Given the description of an element on the screen output the (x, y) to click on. 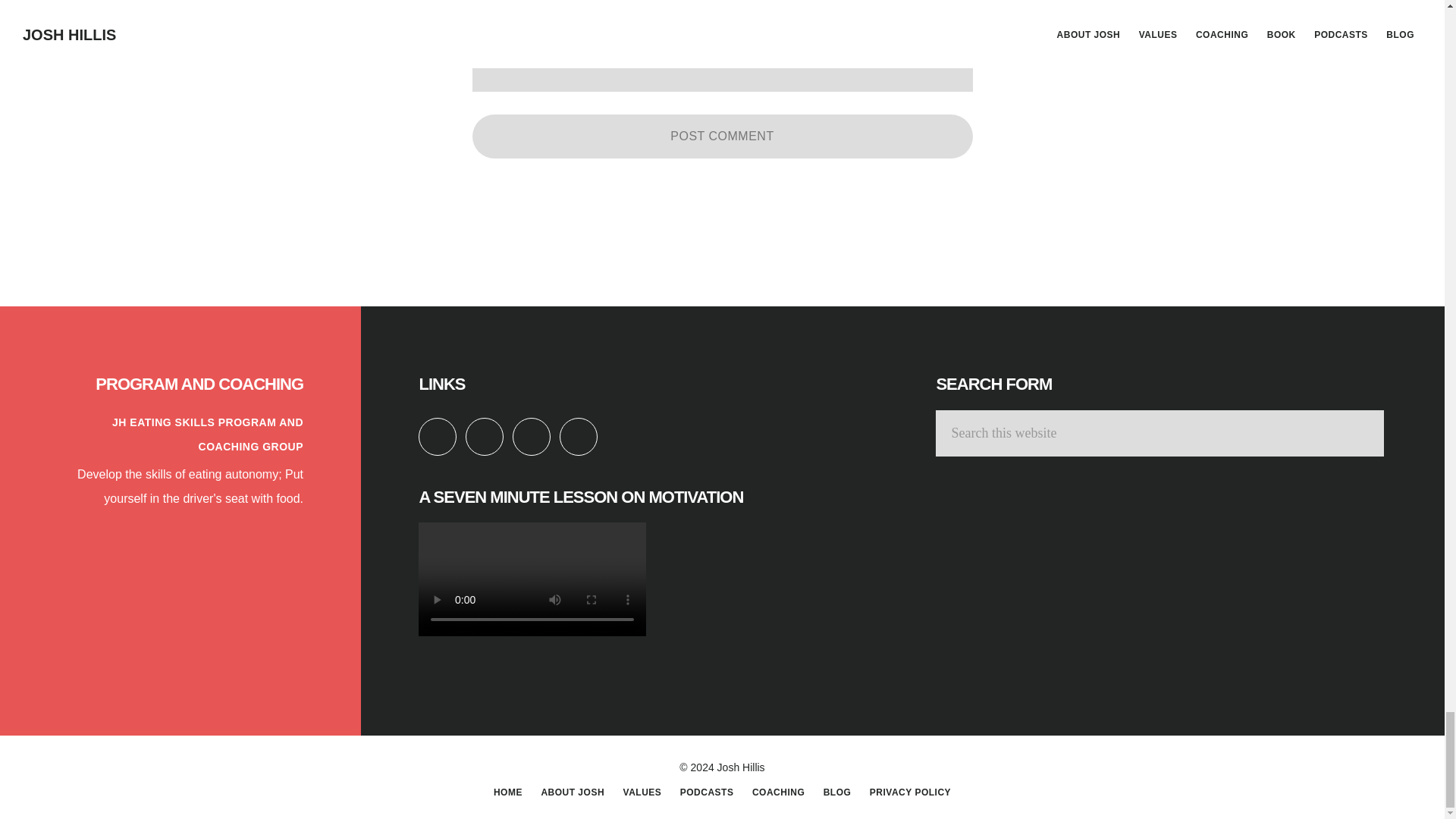
JH EATING SKILLS PROGRAM AND COACHING GROUP (207, 434)
PRIVACY POLICY (909, 791)
Post Comment (721, 136)
COACHING (778, 791)
Post Comment (721, 136)
PODCASTS (706, 791)
ABOUT JOSH (572, 791)
VALUES (642, 791)
